Given the description of an element on the screen output the (x, y) to click on. 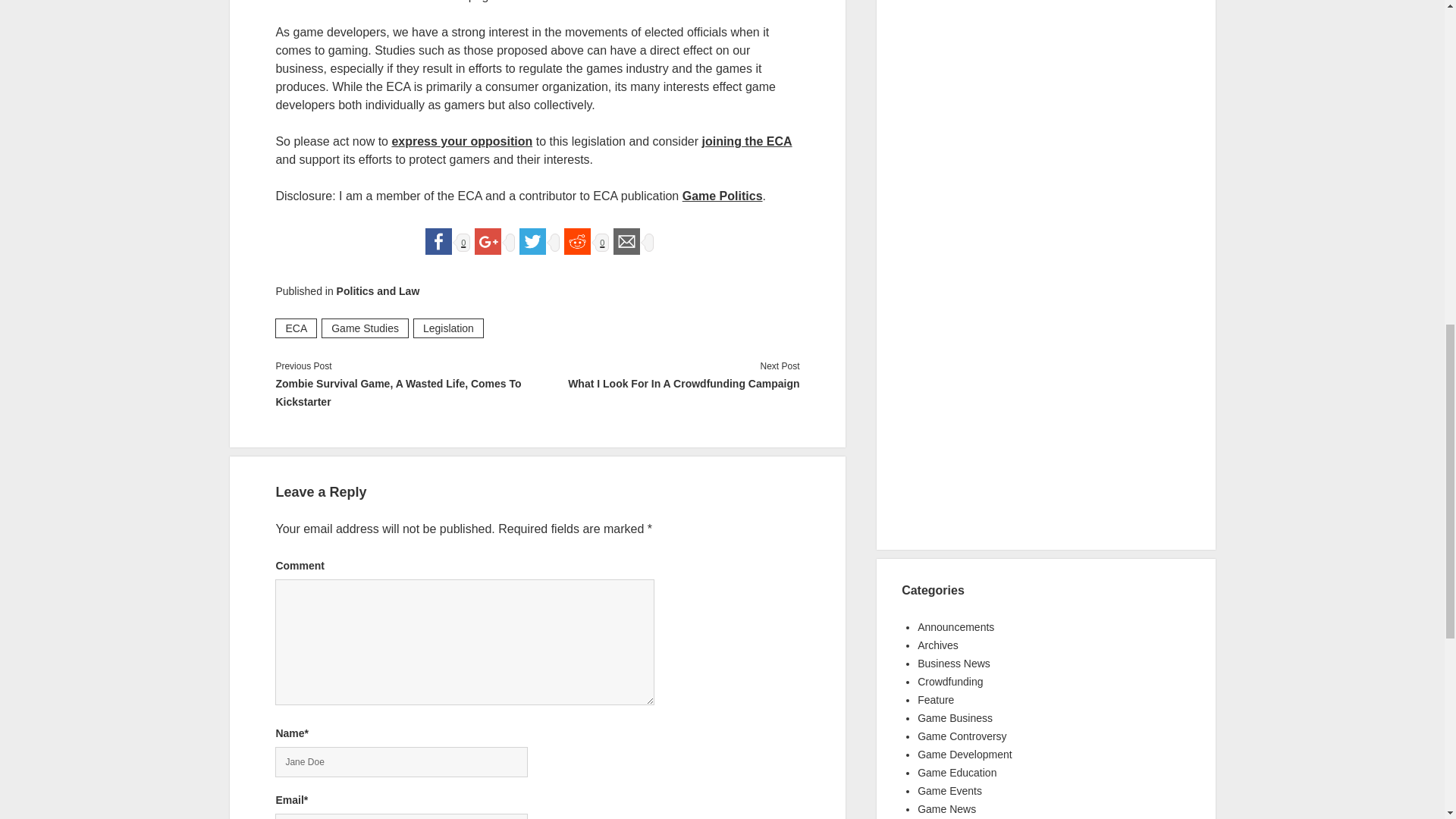
0 (445, 239)
What I Look For In A Crowdfunding Campaign (668, 383)
email (626, 241)
Crowdfunding (949, 681)
View all posts in Politics and Law (378, 291)
View all posts tagged ECA (296, 328)
Business News (953, 663)
Zombie Survival Game, A Wasted Life, Comes To Kickstarter (406, 392)
Game Studies (365, 328)
Archives (937, 645)
